Given the description of an element on the screen output the (x, y) to click on. 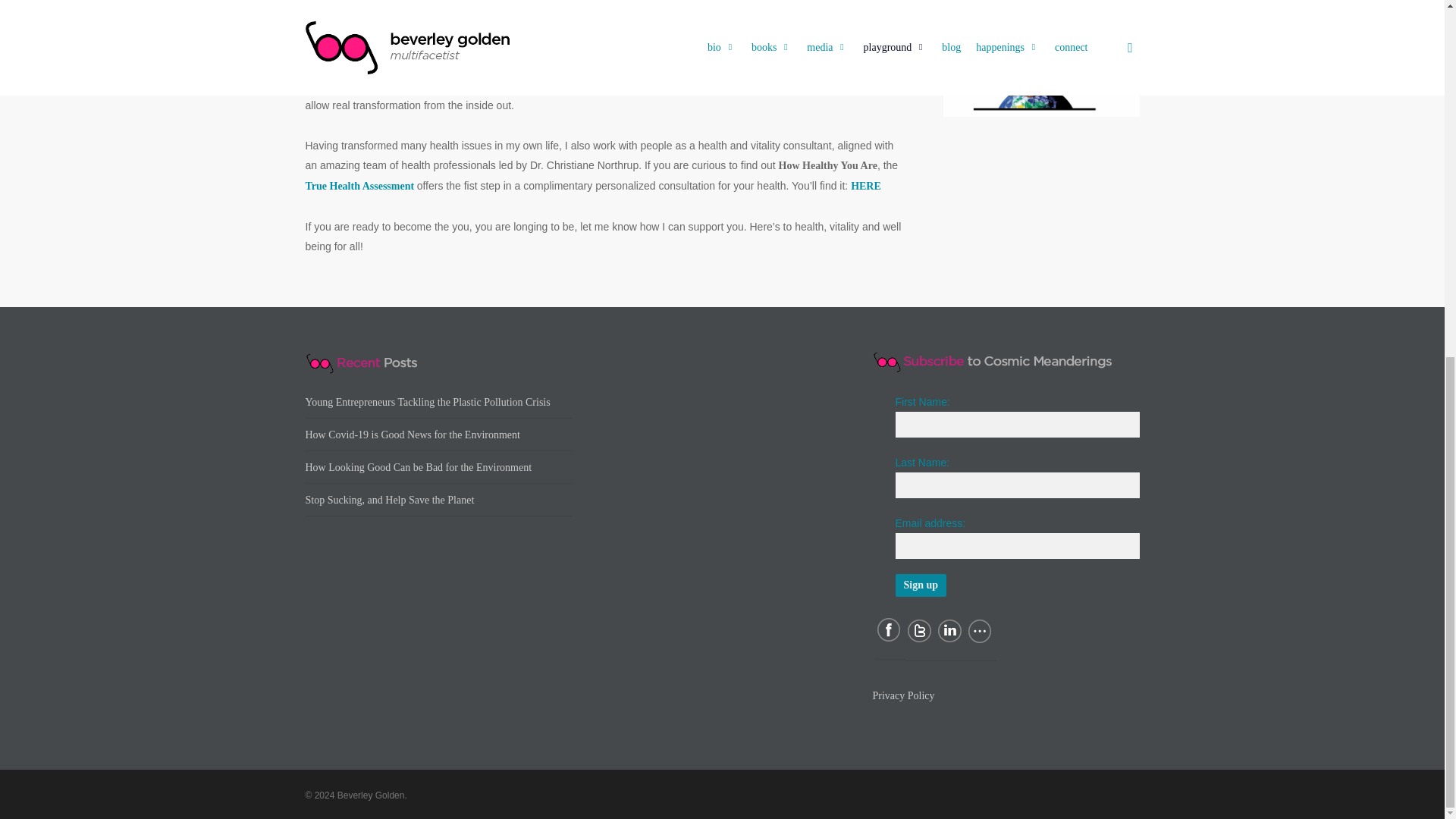
Sign up (920, 585)
True Health Assessment (358, 185)
HERE (865, 185)
